Given the description of an element on the screen output the (x, y) to click on. 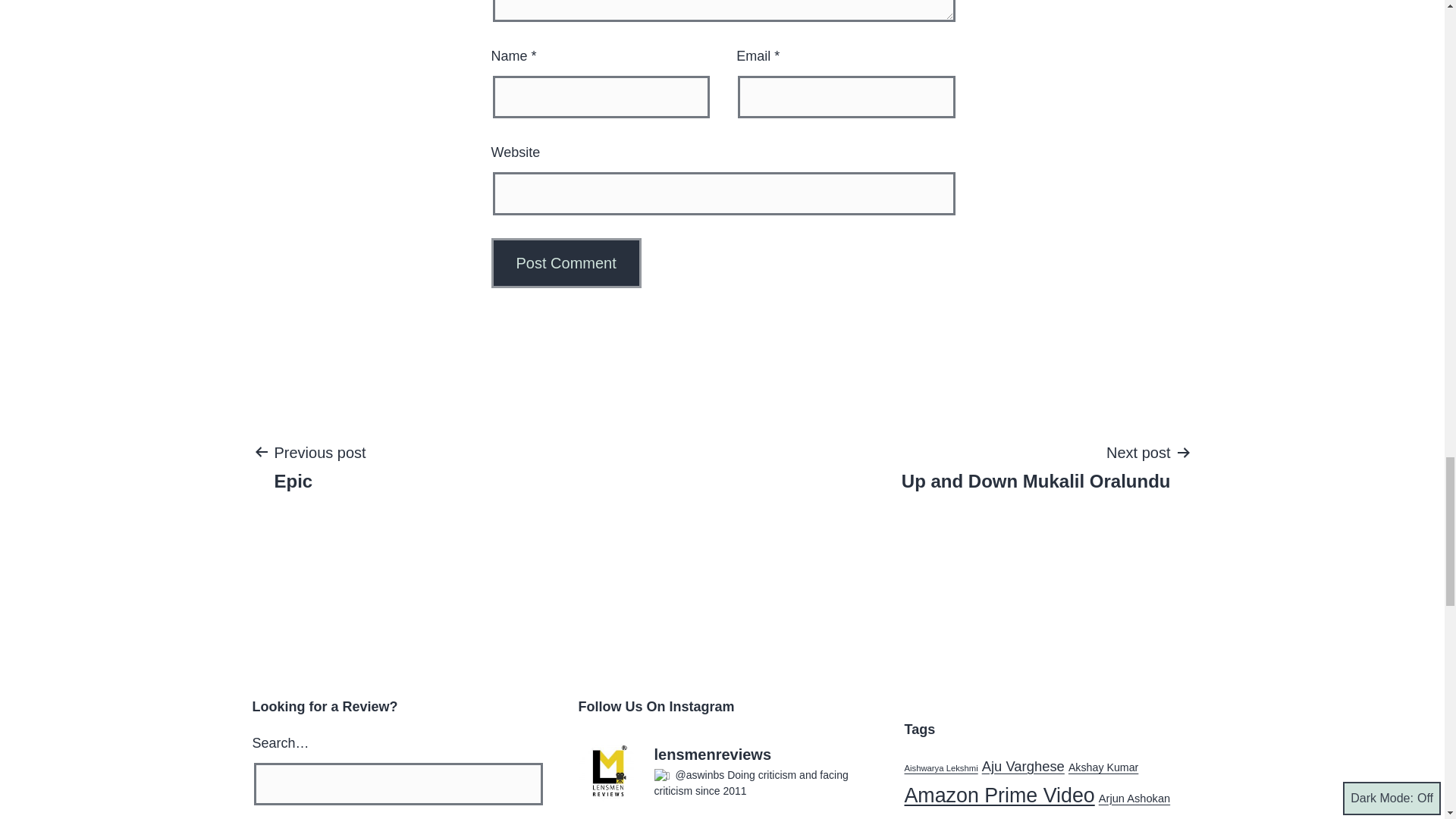
Post Comment (1035, 466)
Post Comment (308, 466)
